Given the description of an element on the screen output the (x, y) to click on. 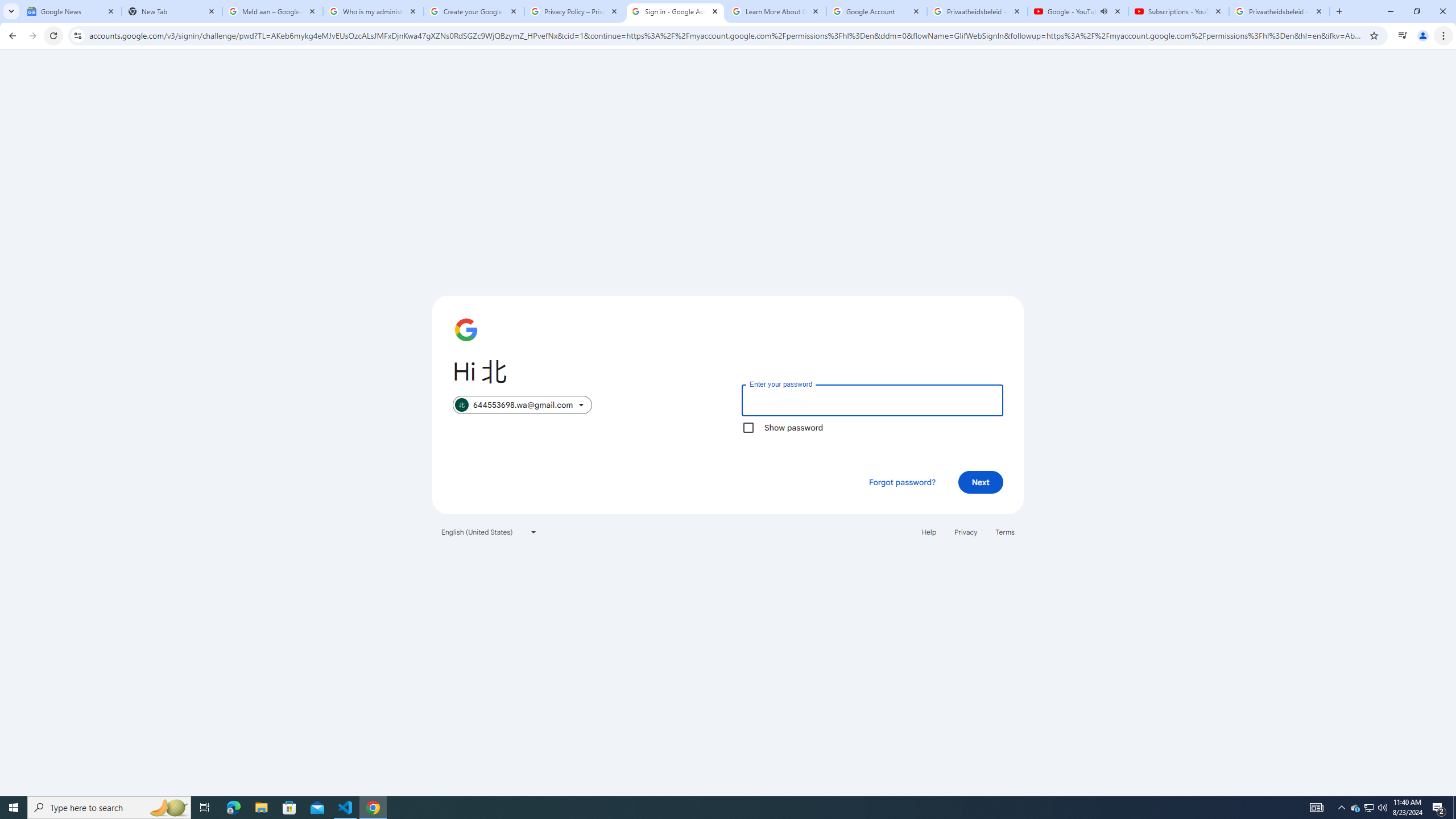
Sign in - Google Accounts (675, 11)
Forgot password? (901, 481)
644553698.wa@gmail.com selected. Switch account (522, 404)
English (United States) (489, 531)
Google Account (876, 11)
Enter your password (871, 399)
Who is my administrator? - Google Account Help (373, 11)
